Given the description of an element on the screen output the (x, y) to click on. 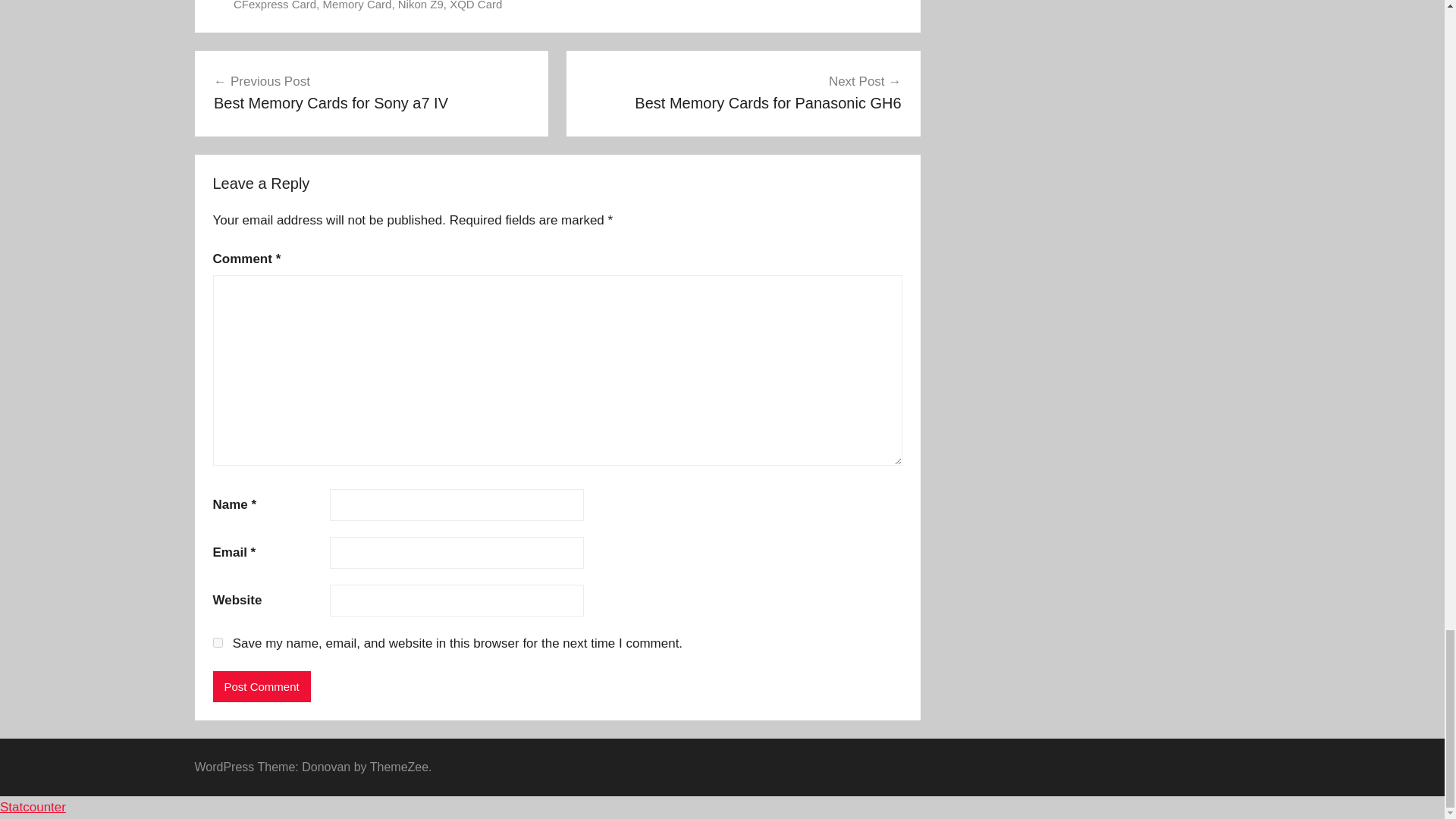
Post Comment (261, 685)
yes (217, 642)
